Given the description of an element on the screen output the (x, y) to click on. 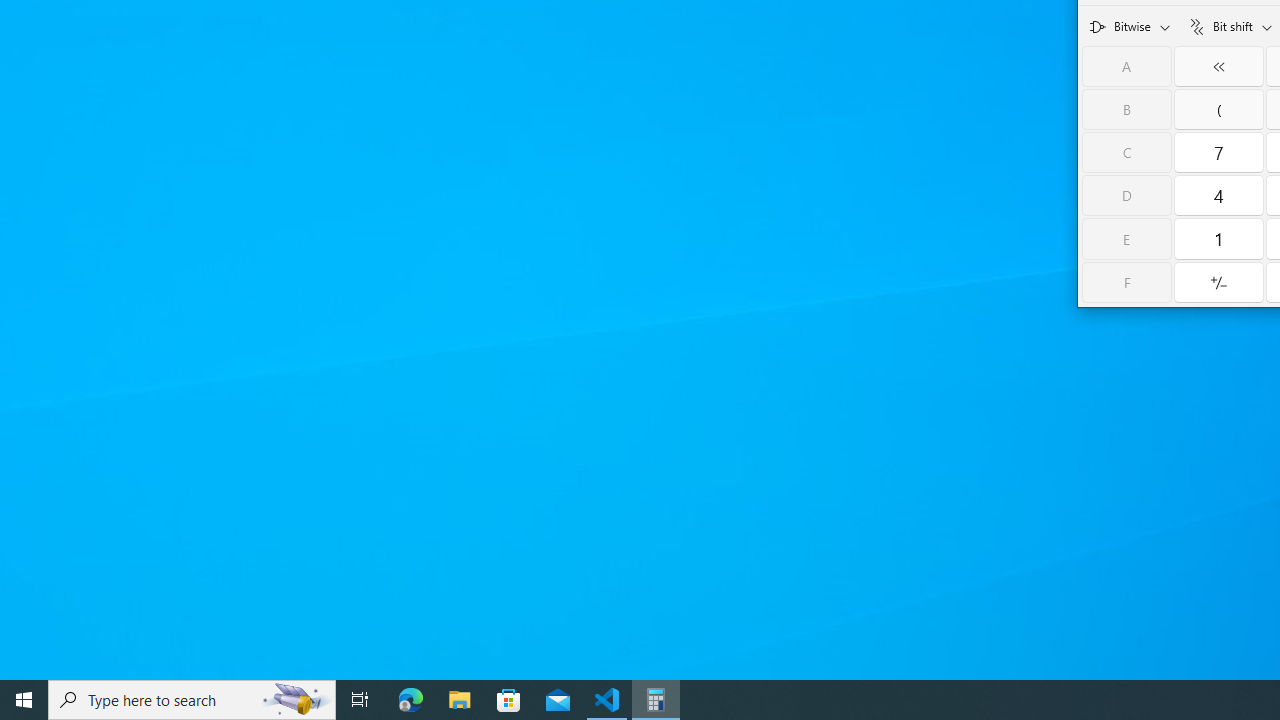
C (1126, 151)
Positive negative (1218, 282)
D (1126, 195)
Bitwise (1129, 25)
Left parenthesis (1218, 109)
Four (1218, 195)
Seven (1218, 151)
Calculator - 1 running window (656, 699)
E (1126, 238)
B (1126, 109)
Left shift (1218, 66)
